Given the description of an element on the screen output the (x, y) to click on. 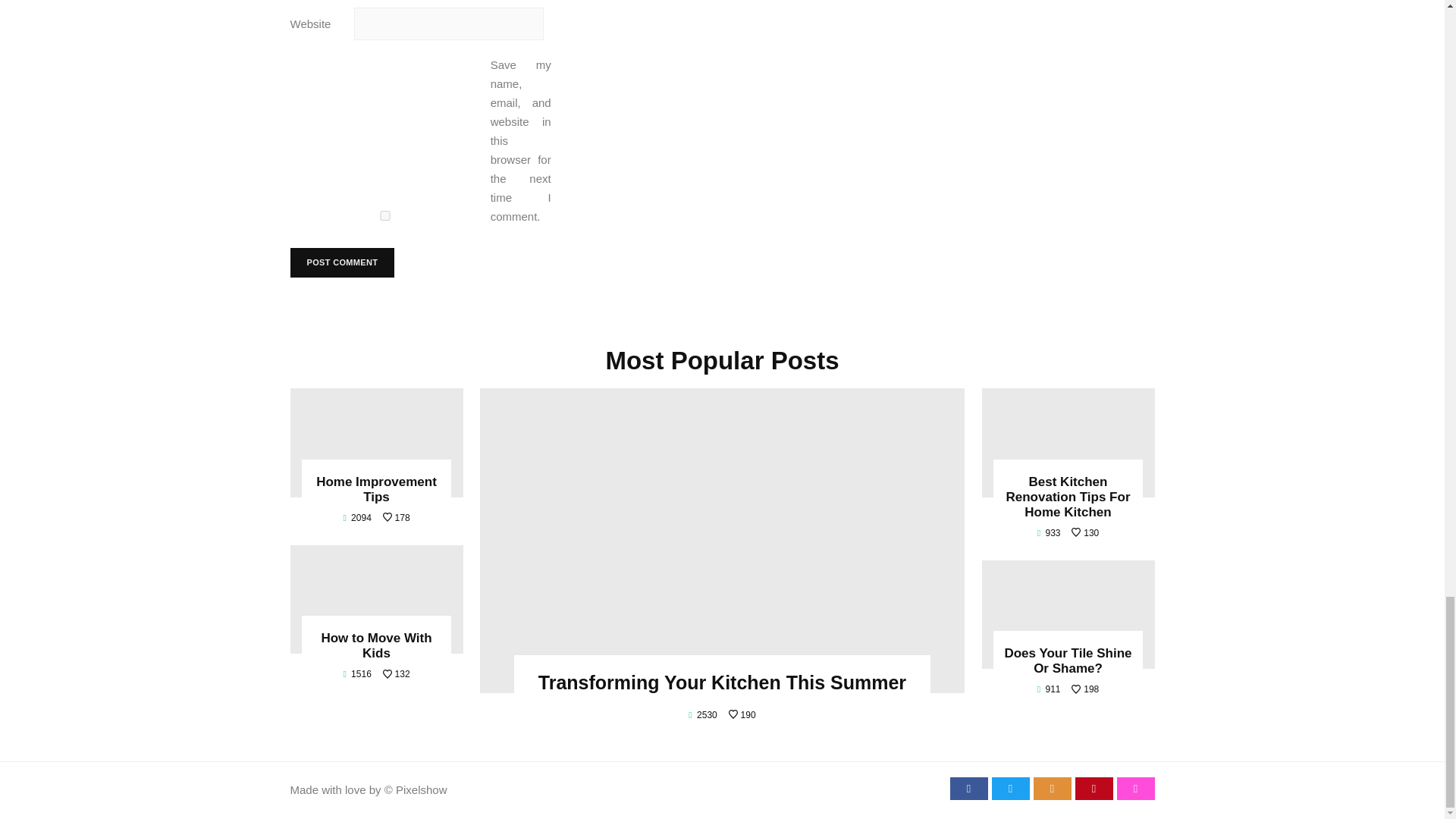
Like (1085, 532)
Like (396, 674)
yes (384, 215)
Like (396, 517)
Post Comment (341, 262)
Like (742, 715)
Like (1085, 688)
